Given the description of an element on the screen output the (x, y) to click on. 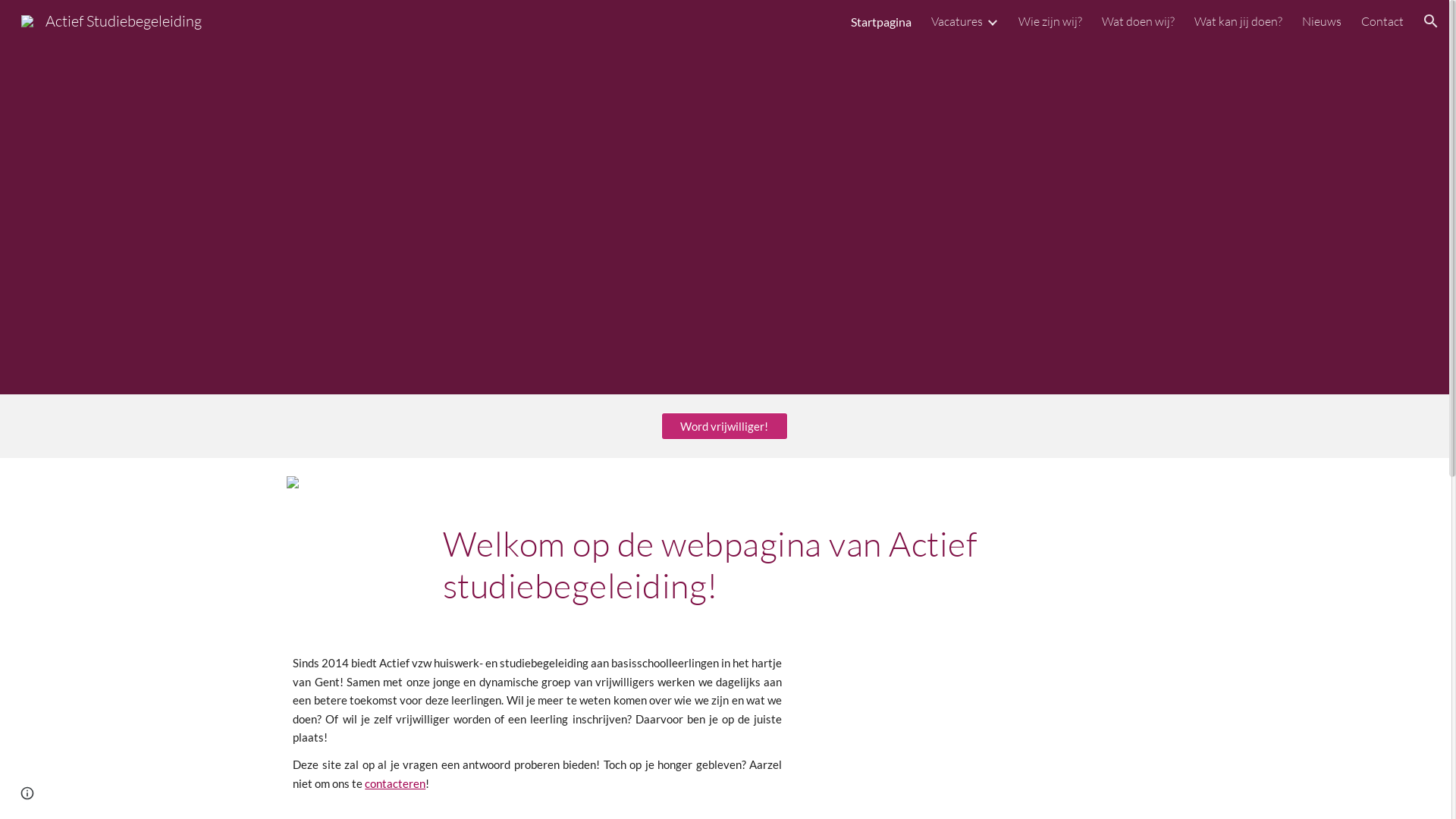
contacteren Element type: text (394, 783)
Vacatures Element type: text (956, 20)
Wie zijn wij? Element type: text (1050, 20)
Wat kan jij doen? Element type: text (1238, 20)
Word vrijwilliger! Element type: text (724, 425)
Contact Element type: text (1382, 20)
Actief Studiebegeleiding Element type: text (111, 18)
Expand/Collapse Element type: hover (991, 20)
Startpagina Element type: text (880, 20)
Nieuws Element type: text (1321, 20)
Wat doen wij? Element type: text (1137, 20)
